Given the description of an element on the screen output the (x, y) to click on. 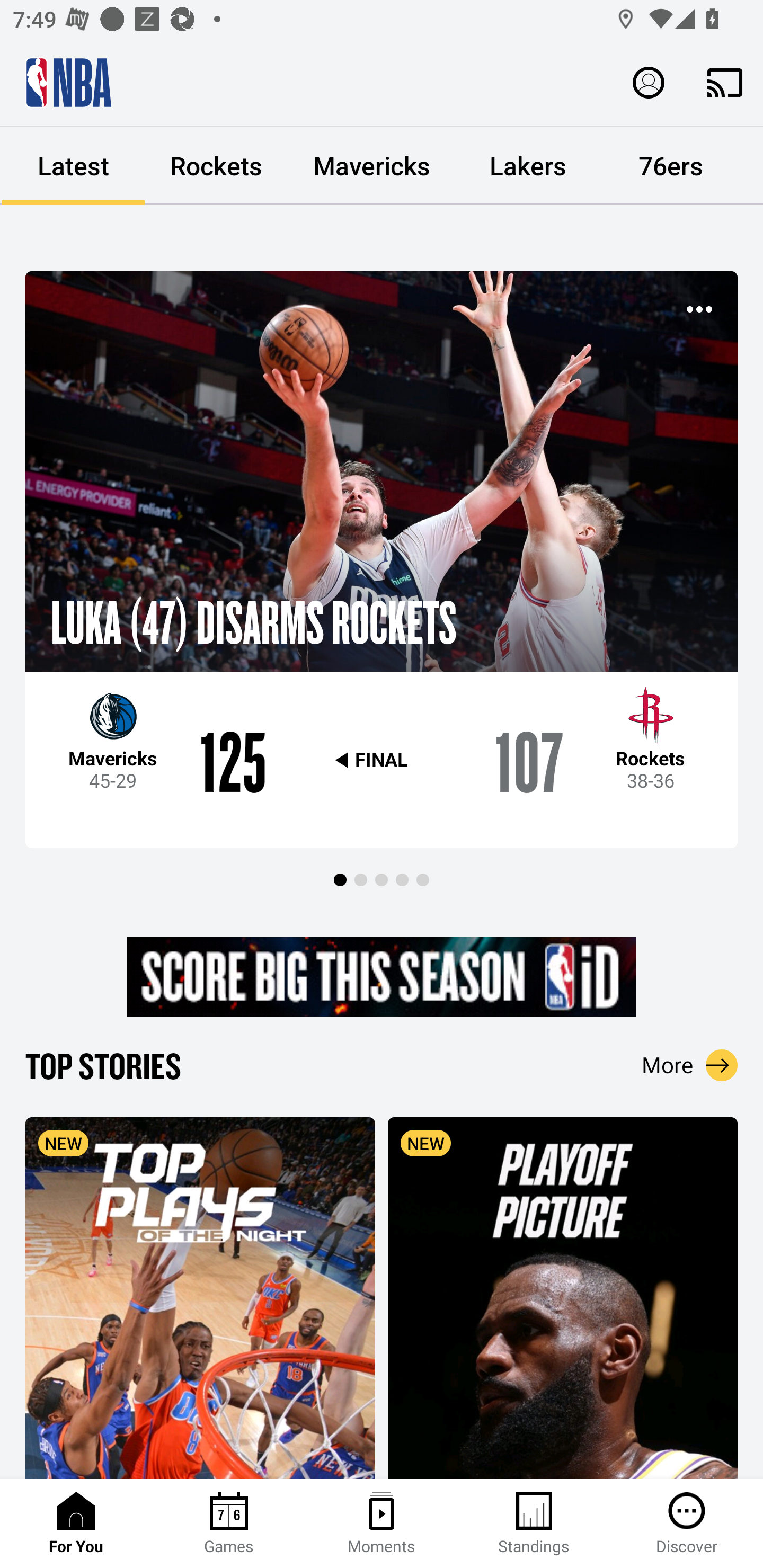
Cast. Disconnected (724, 82)
Profile (648, 81)
Rockets (215, 166)
Mavericks (371, 166)
Lakers (527, 166)
76ers (670, 166)
TOP STORIES More NEW NEW (381, 1260)
More (689, 1064)
NEW (200, 1297)
NEW (562, 1297)
Games (228, 1523)
Moments (381, 1523)
Standings (533, 1523)
Discover (686, 1523)
